Given the description of an element on the screen output the (x, y) to click on. 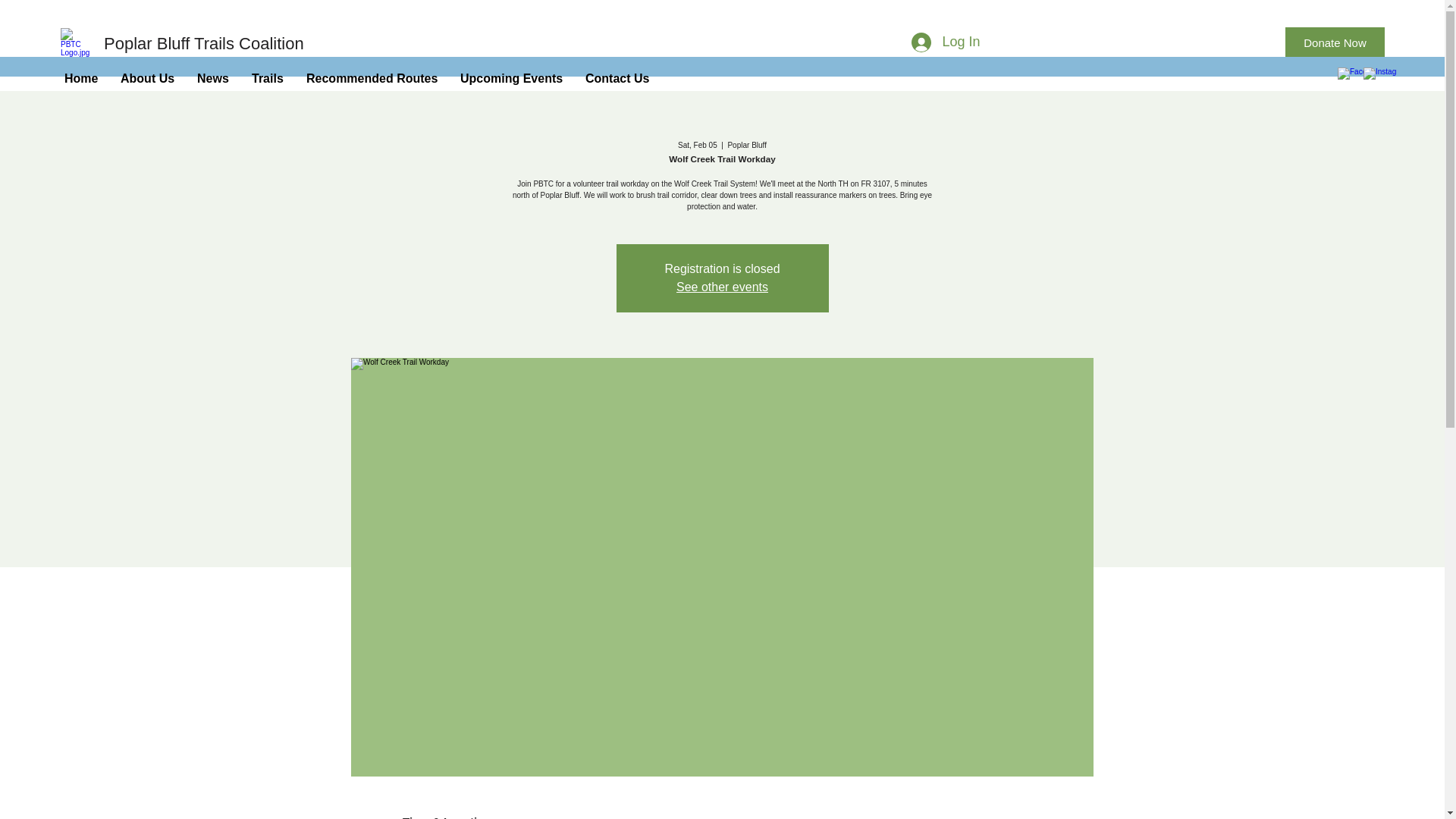
Contact Us (617, 78)
Donate Now (1334, 42)
Upcoming Events (510, 78)
Poplar Bluff Trails Coalition (203, 43)
Recommended Routes (371, 78)
Log In (945, 41)
News (213, 78)
Home (80, 78)
Trails (267, 78)
See other events (722, 286)
About Us (147, 78)
